Given the description of an element on the screen output the (x, y) to click on. 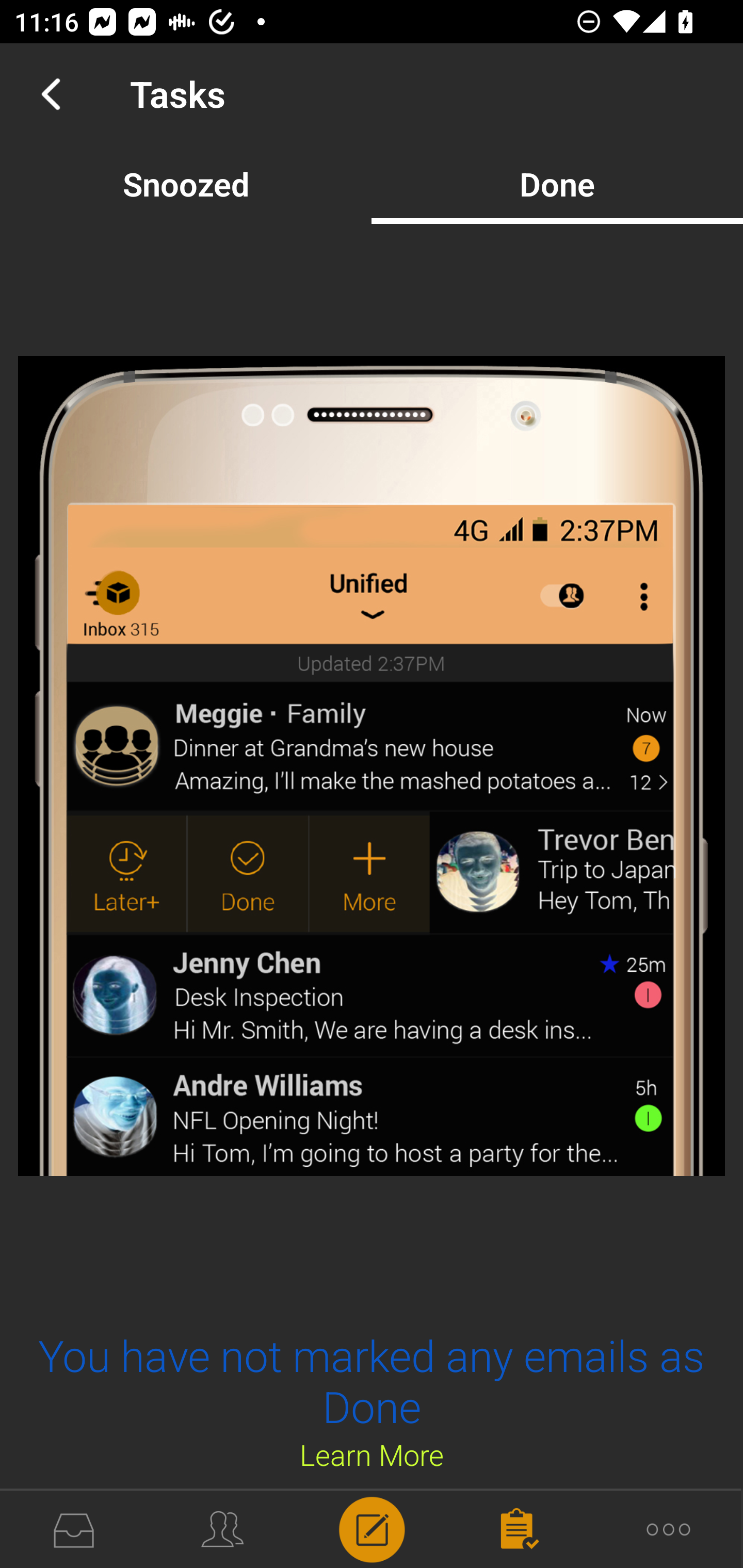
Navigate up (50, 93)
Snoozed (185, 184)
Done (557, 184)
Learn More (371, 1453)
Compose (371, 1528)
